Given the description of an element on the screen output the (x, y) to click on. 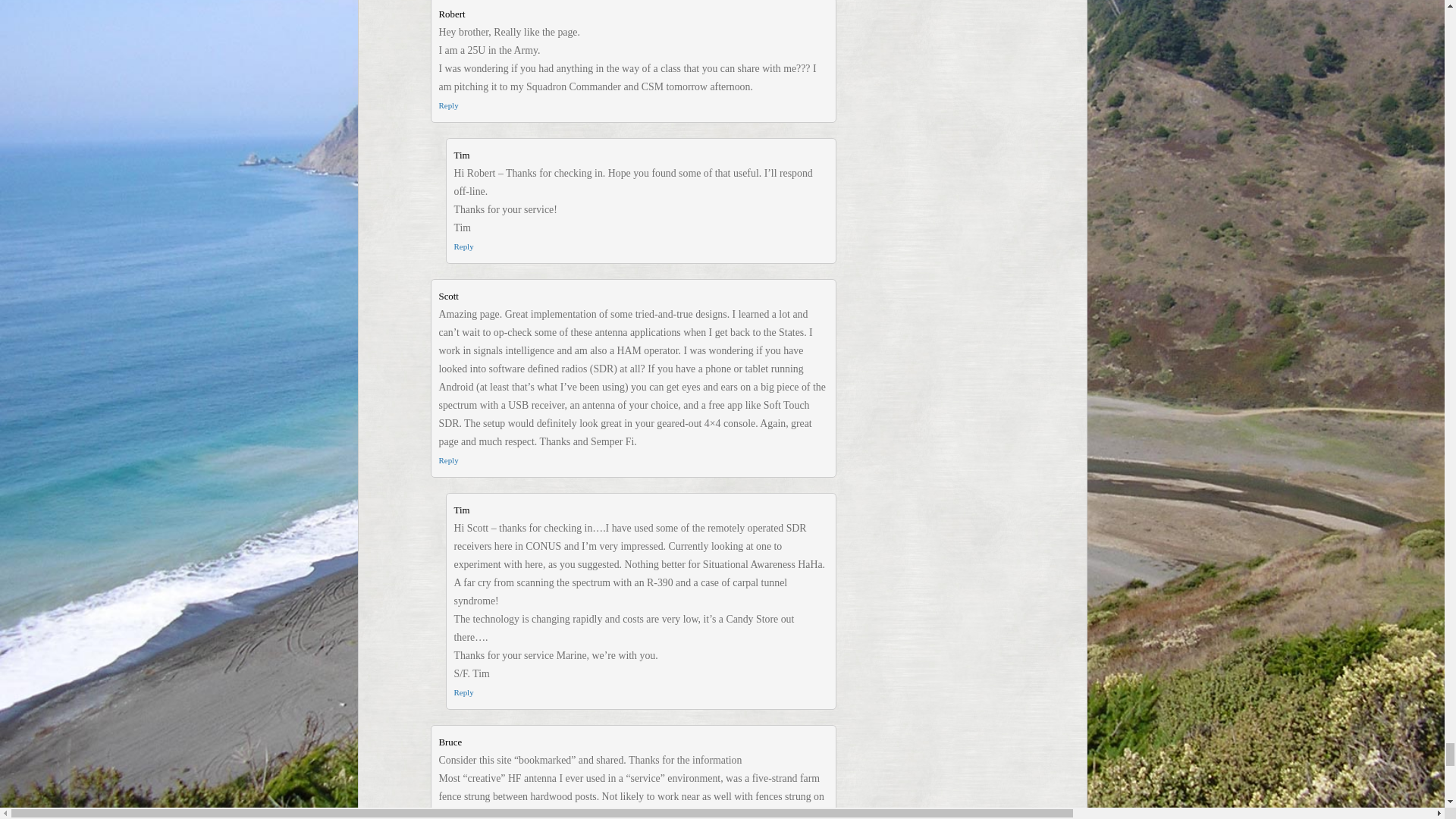
Reply (462, 245)
Reply (448, 104)
Reply (448, 460)
Reply (462, 691)
